Given the description of an element on the screen output the (x, y) to click on. 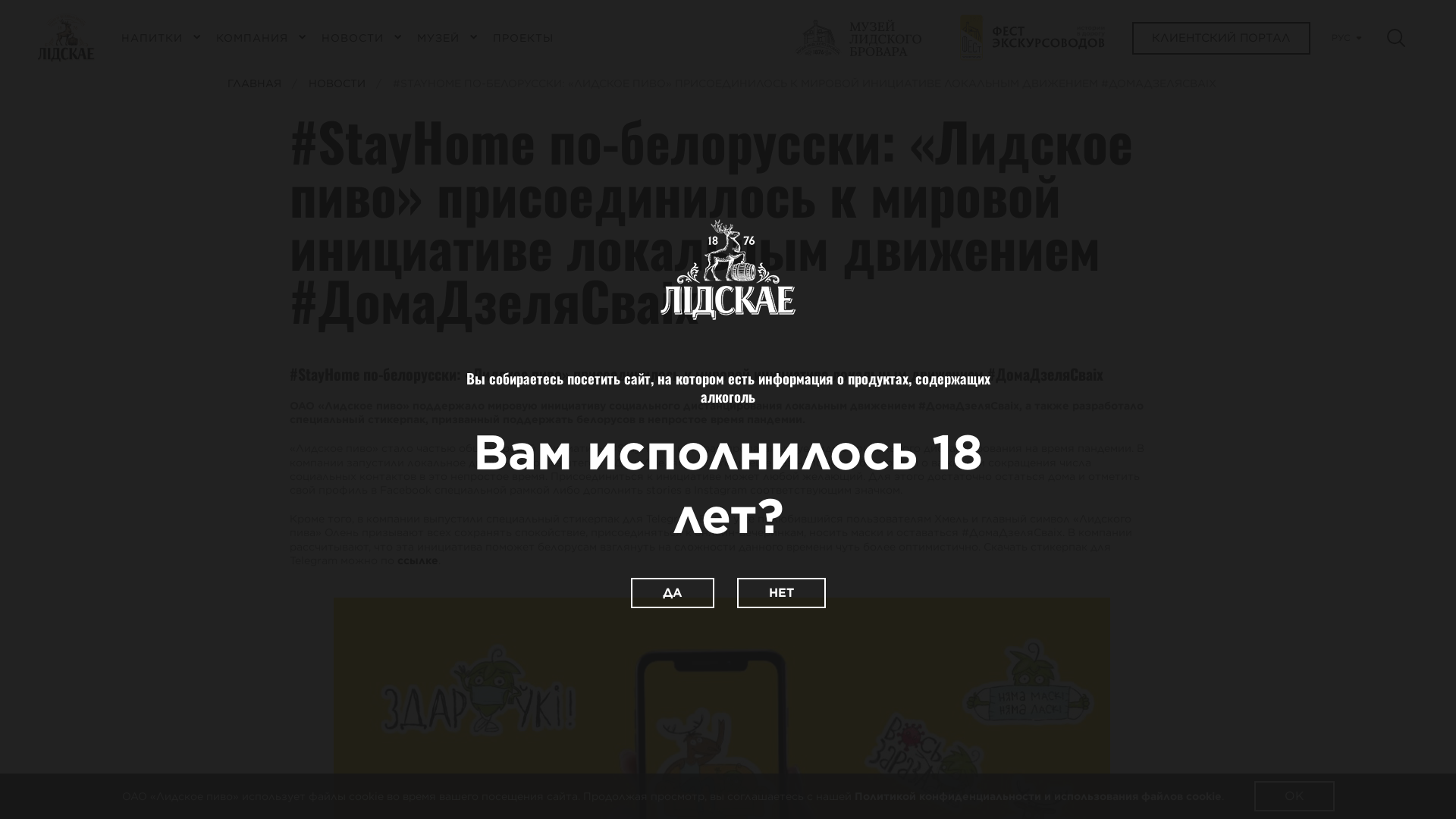
OK Element type: text (1294, 796)
